Given the description of an element on the screen output the (x, y) to click on. 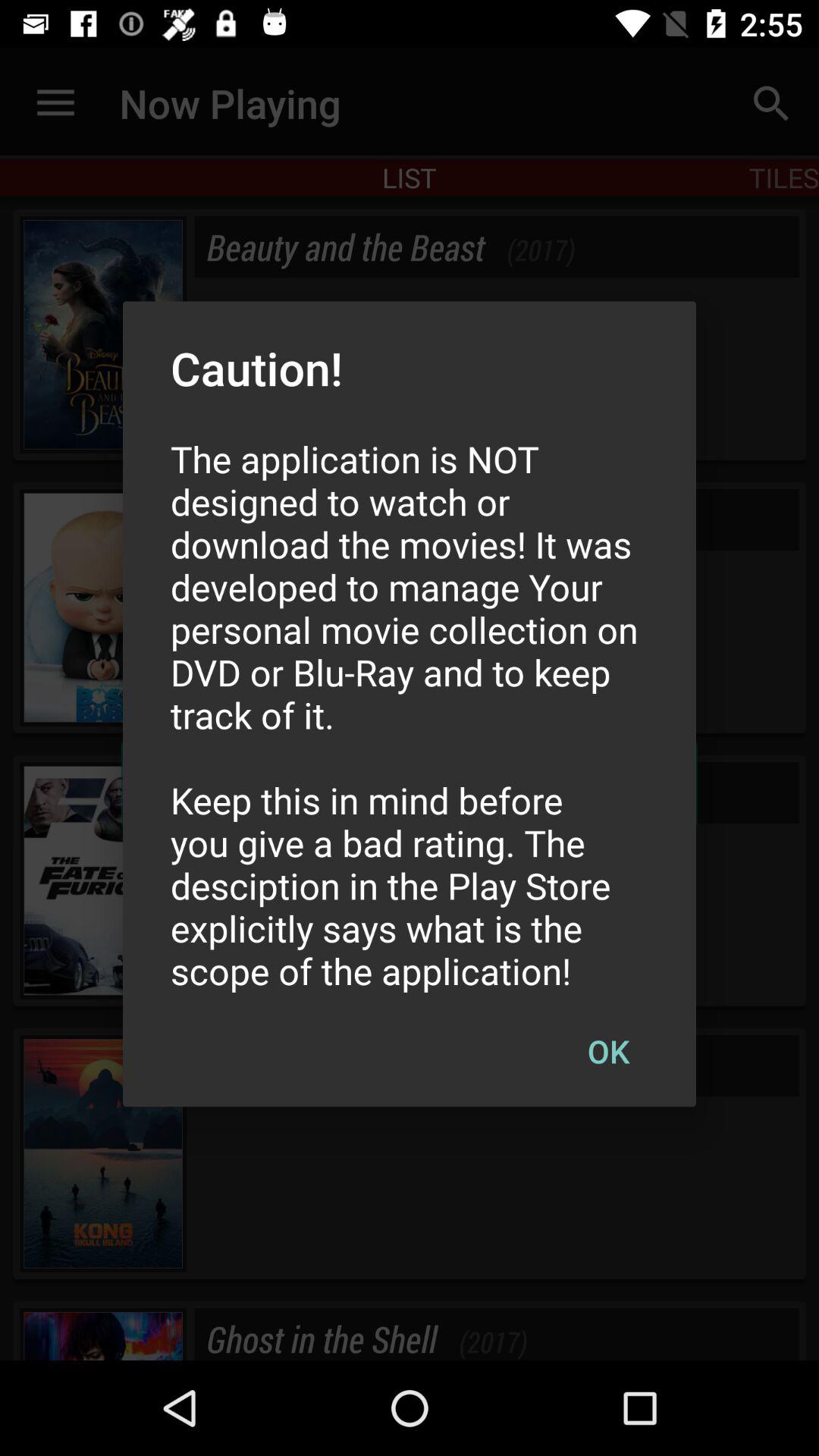
turn on the item below the the application is item (608, 1050)
